Given the description of an element on the screen output the (x, y) to click on. 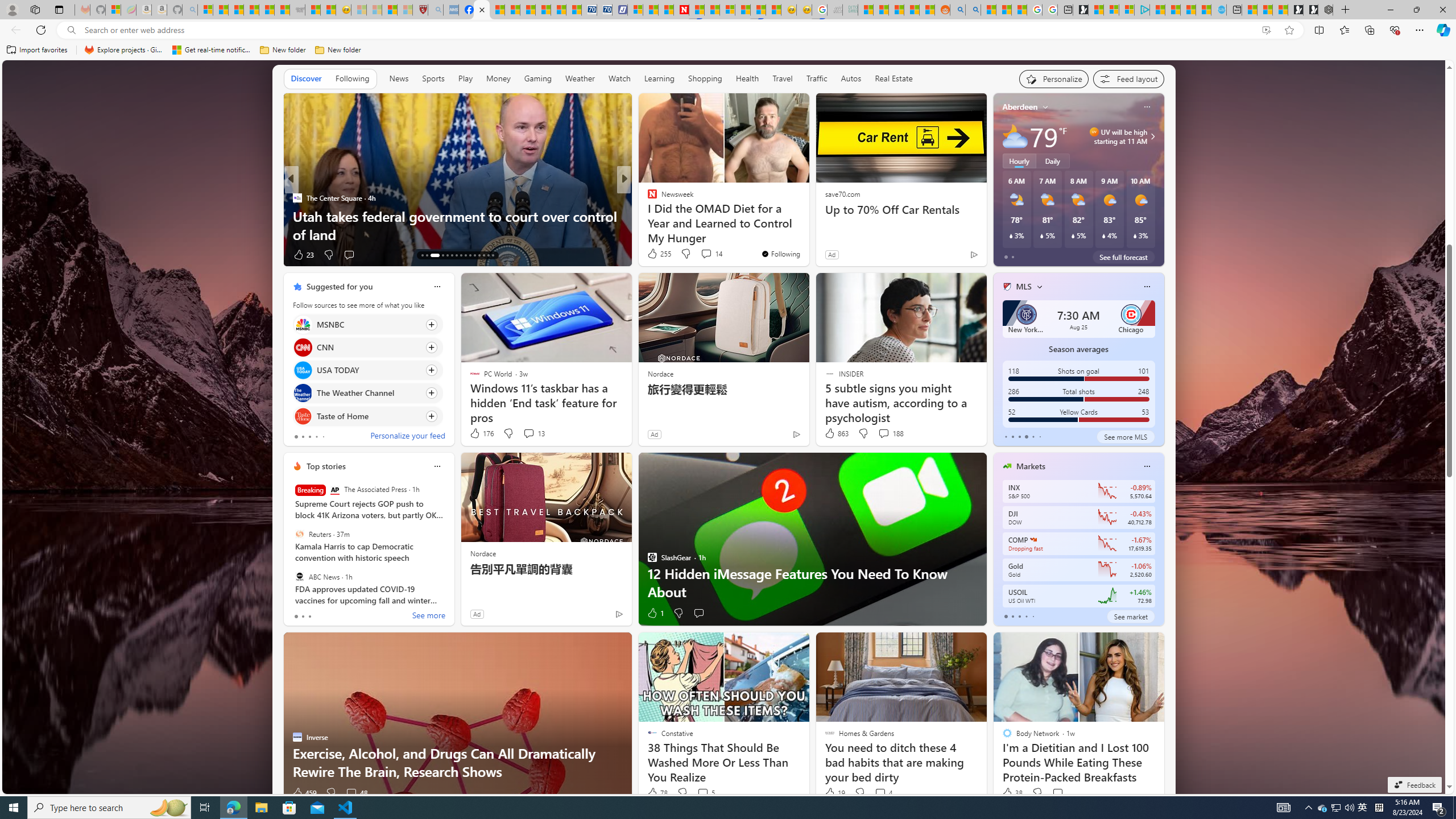
268 Like (654, 254)
Class: weather-arrow-glyph (1152, 136)
9 Like (651, 254)
The Weather Channel (302, 393)
176 Like (480, 433)
AutomationID: tab-92 (492, 255)
Aberdeen (1019, 106)
BuzzFeed (647, 197)
